Given the description of an element on the screen output the (x, y) to click on. 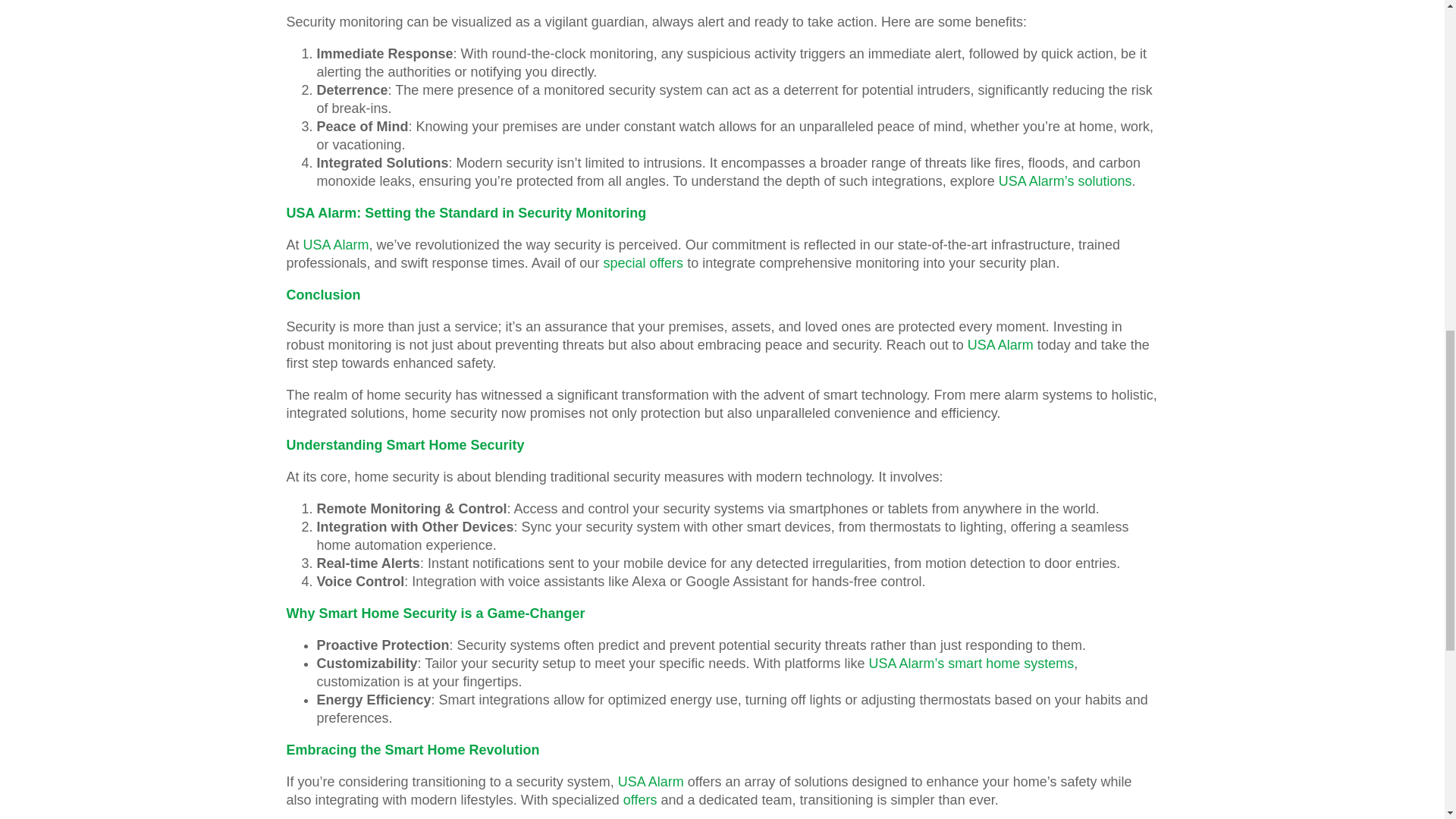
USA Alarm (650, 781)
USA Alarm (335, 244)
USA Alarm (1000, 344)
offers (640, 799)
special offers (642, 263)
